Given the description of an element on the screen output the (x, y) to click on. 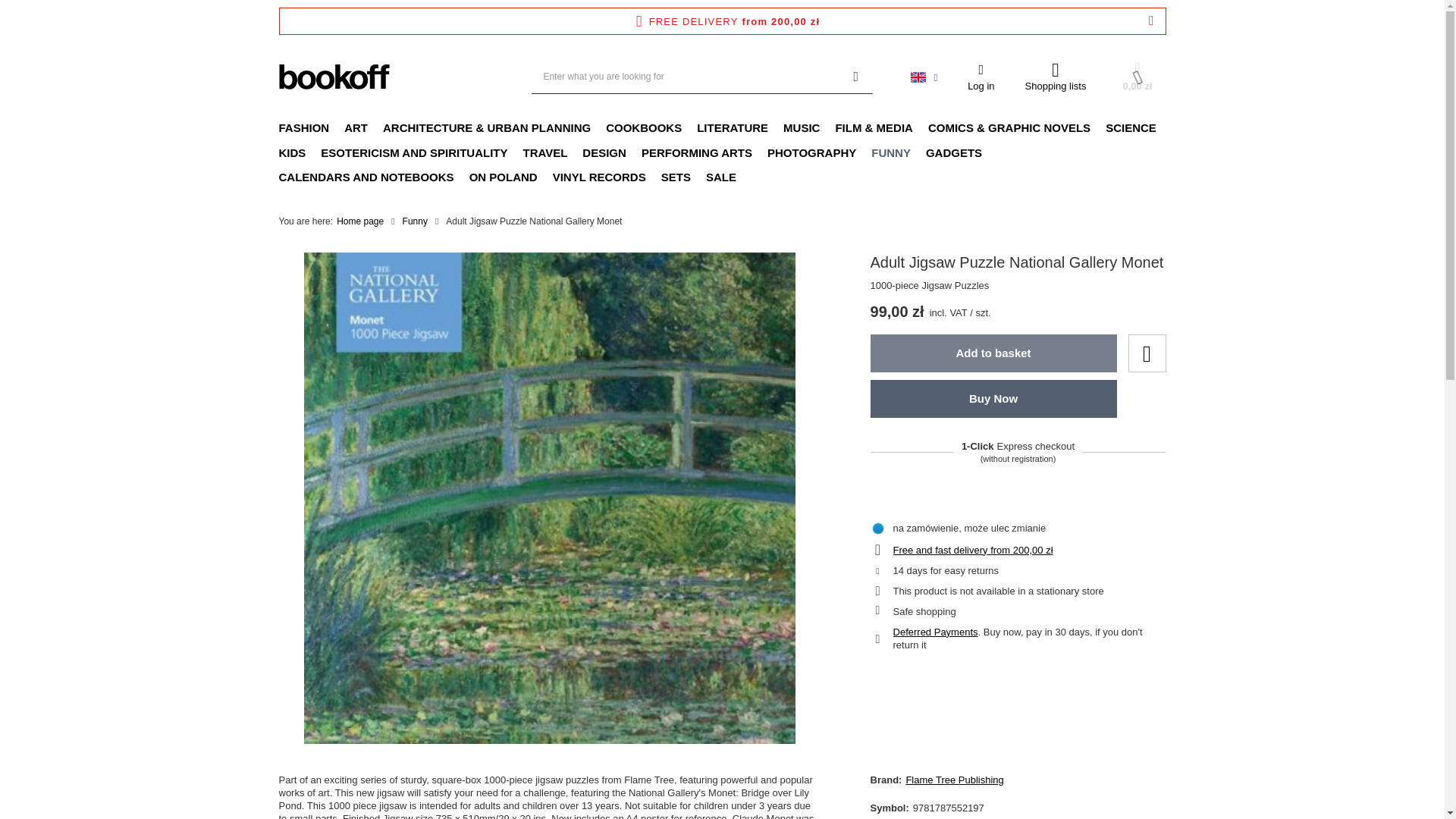
Art (355, 129)
ART (355, 129)
Fashion (303, 129)
FASHION (303, 129)
Shopping lists (1055, 76)
